Given the description of an element on the screen output the (x, y) to click on. 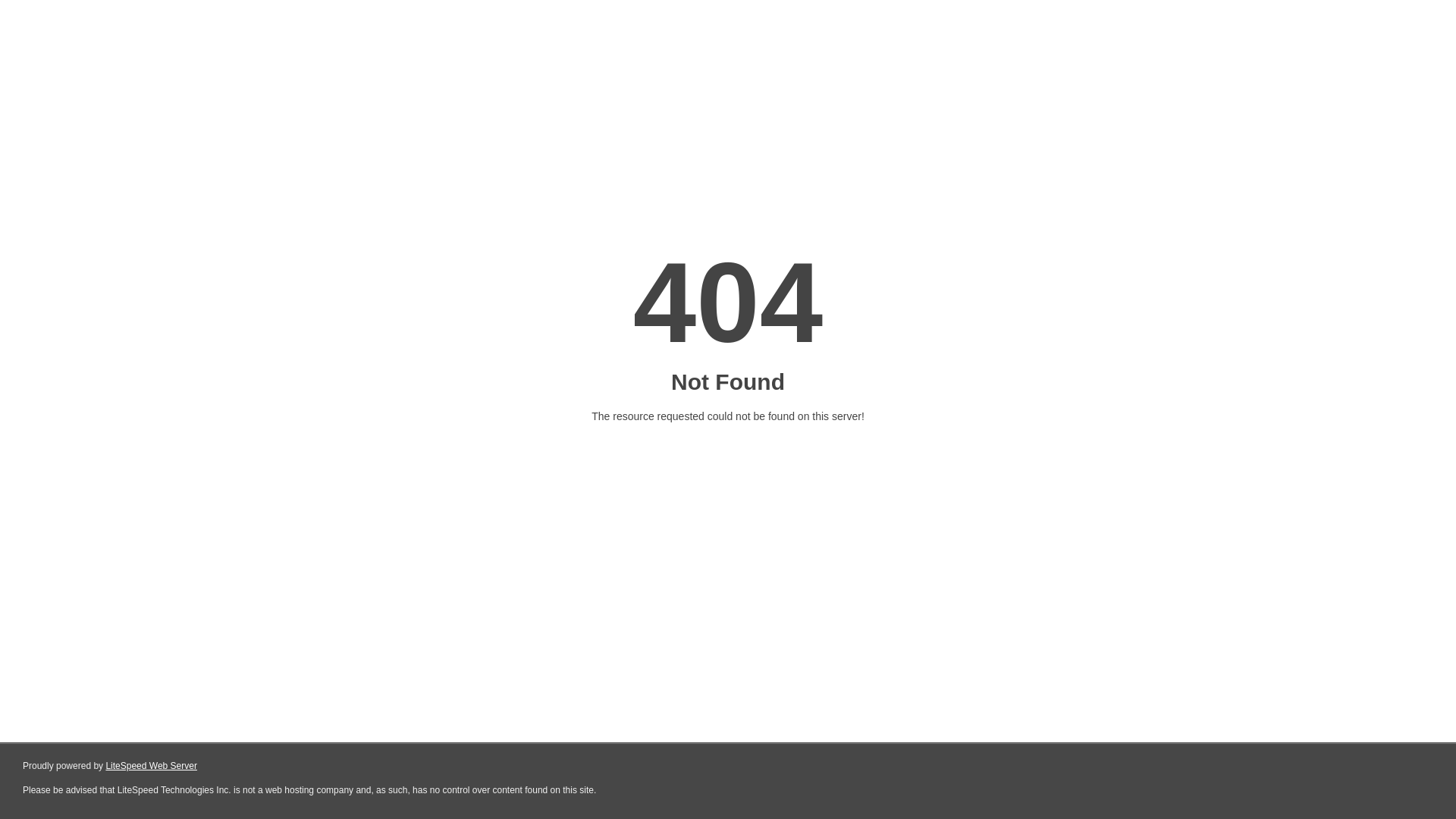
LiteSpeed Web Server Element type: text (151, 765)
